Given the description of an element on the screen output the (x, y) to click on. 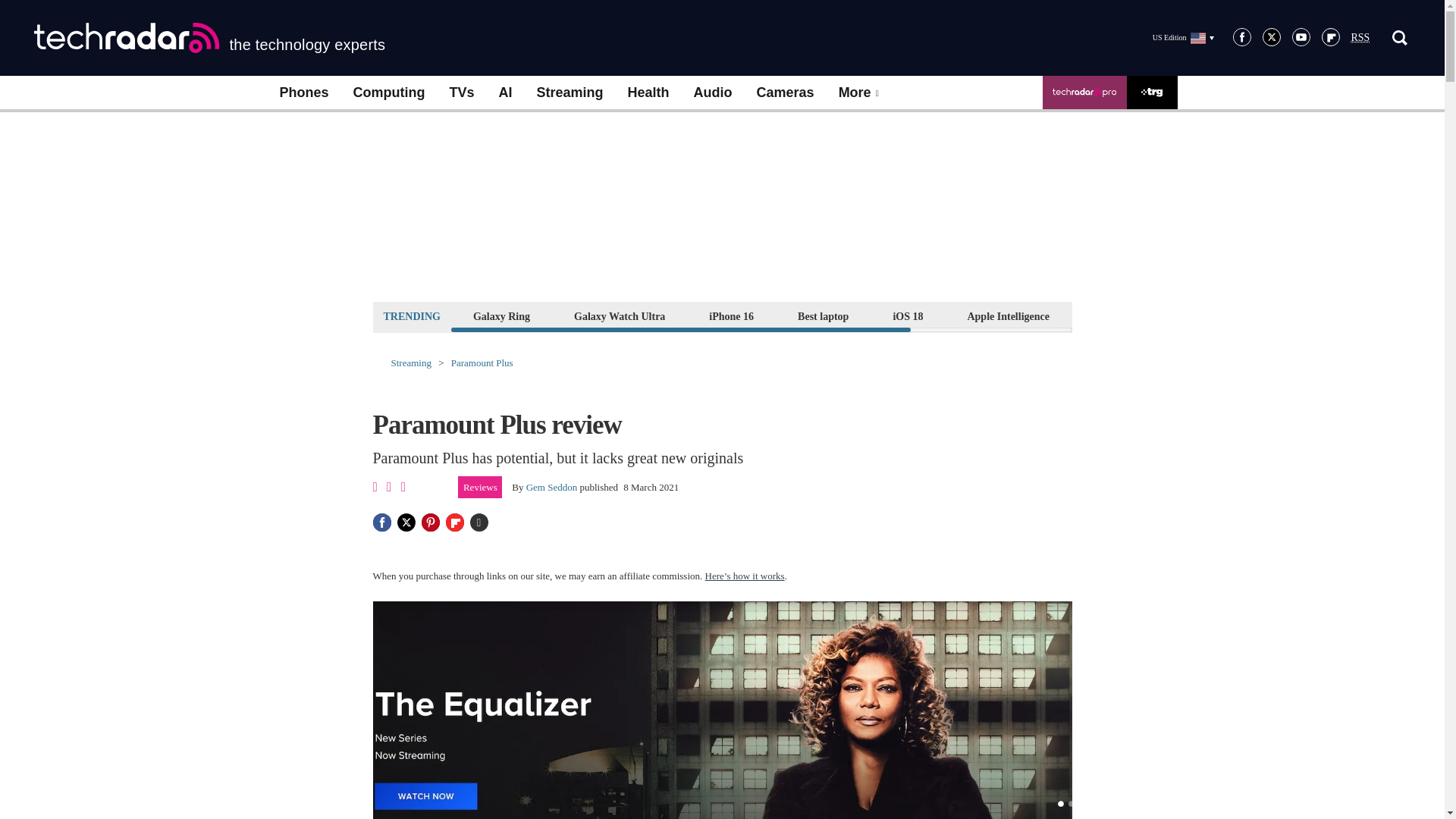
US Edition (1182, 37)
Health (648, 92)
the technology experts (209, 38)
Really Simple Syndication (1360, 37)
TVs (461, 92)
Phones (303, 92)
Cameras (785, 92)
Audio (712, 92)
AI (505, 92)
Computing (389, 92)
Streaming (569, 92)
